Given the description of an element on the screen output the (x, y) to click on. 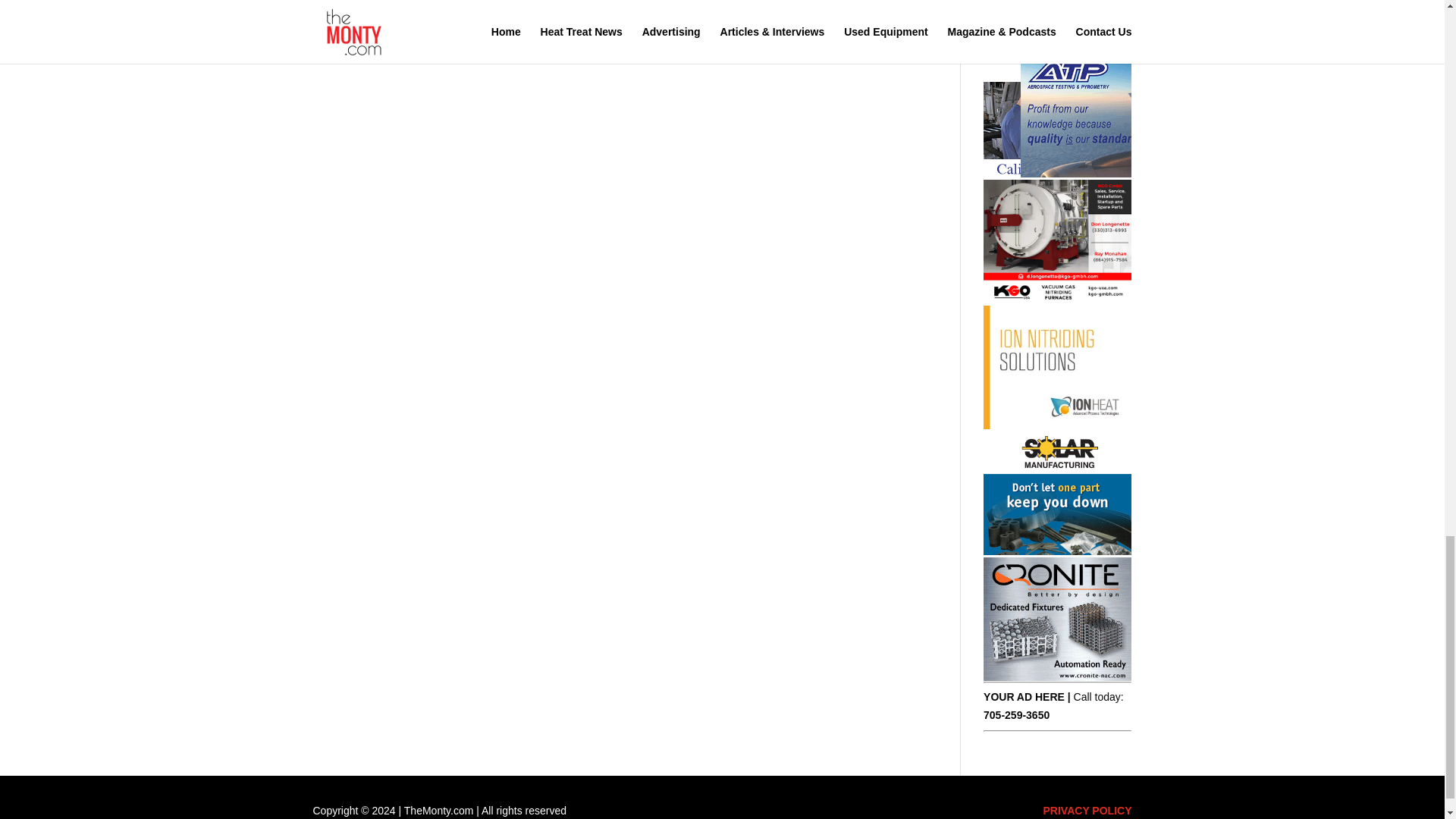
PRIVACY POLICY (1087, 810)
